Given the description of an element on the screen output the (x, y) to click on. 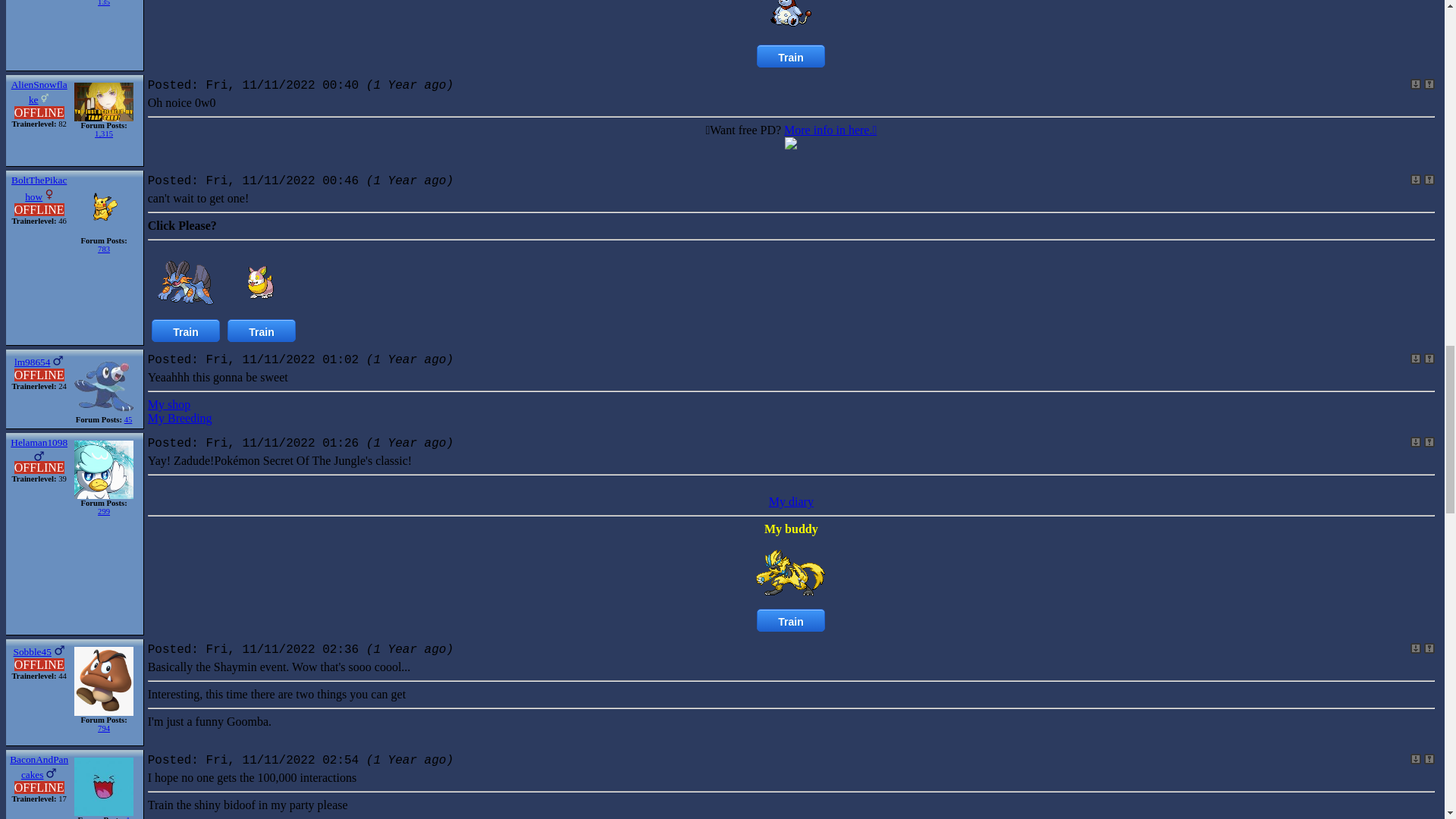
Permanent Link to this Post (1415, 83)
Permanent Link to this Post (1415, 179)
Permanent Link to this Post (1415, 357)
